Given the description of an element on the screen output the (x, y) to click on. 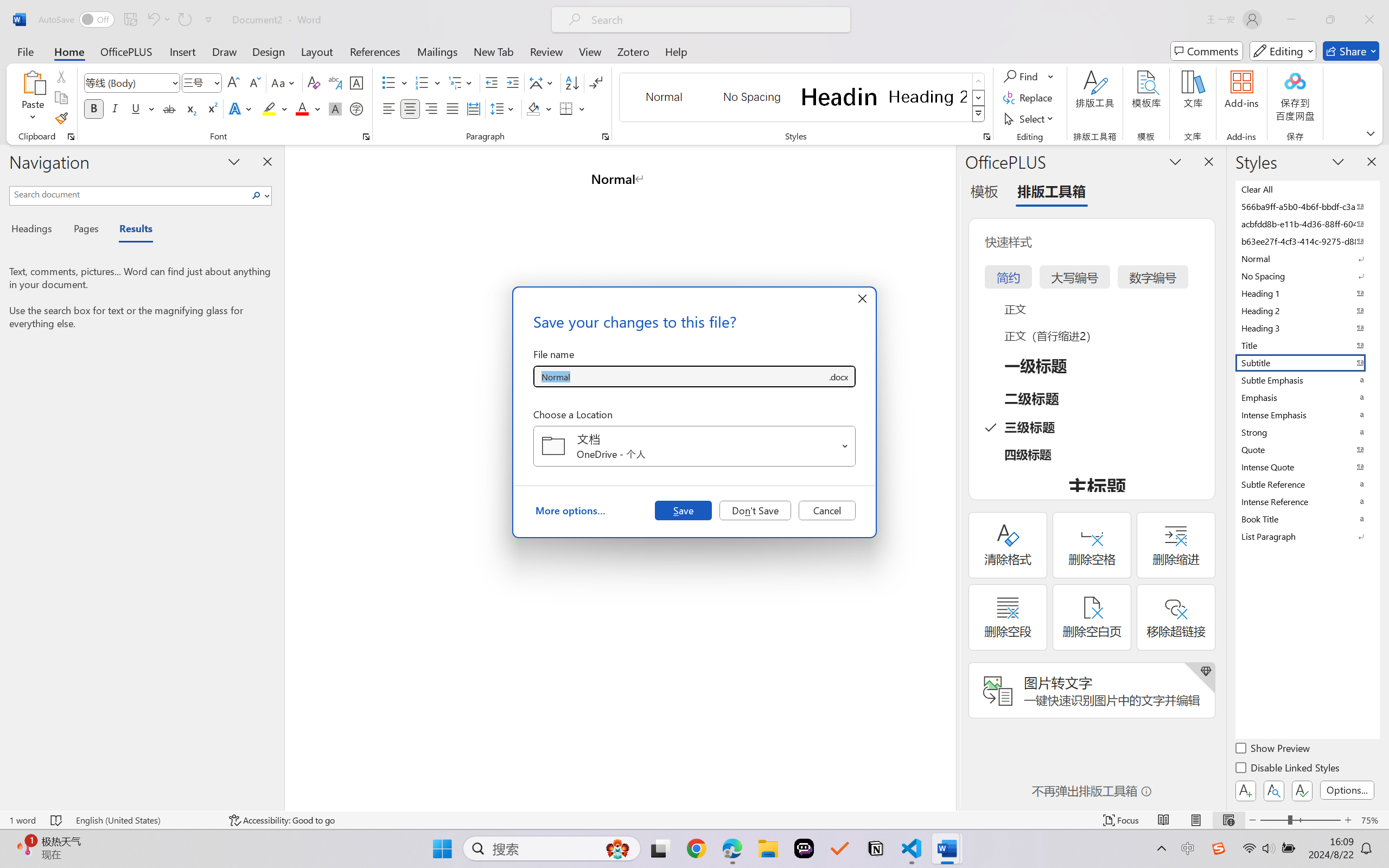
Help (675, 51)
Focus  (1121, 819)
Shrink Font (253, 82)
Subtitle (1306, 362)
Align Left (388, 108)
Close (1369, 19)
Bullets (395, 82)
